Given the description of an element on the screen output the (x, y) to click on. 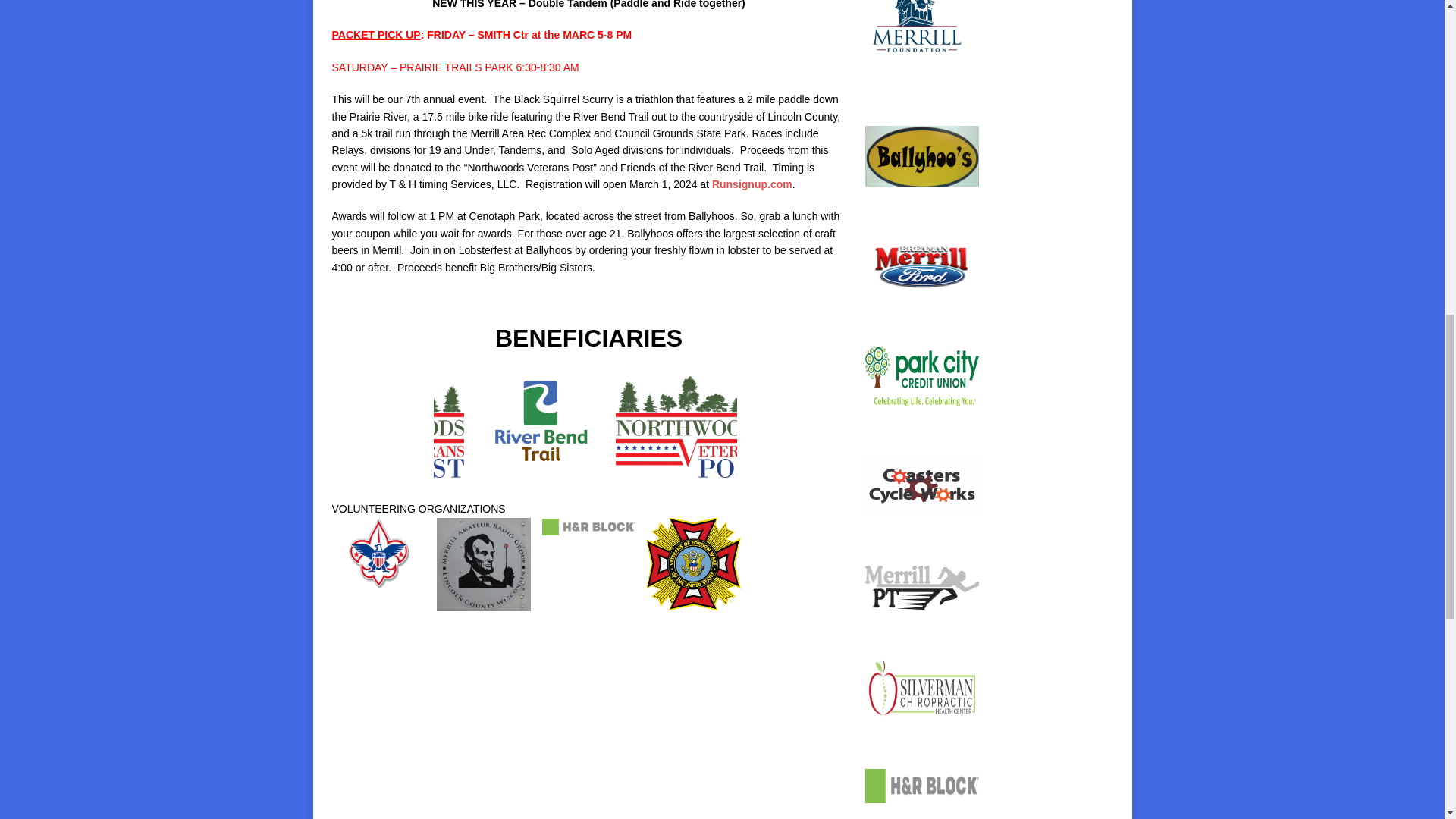
River Bend (539, 427)
Runsignup.com (751, 184)
Northwoods Veterans Post (691, 426)
Northwoods Veterans Post (388, 426)
